Given the description of an element on the screen output the (x, y) to click on. 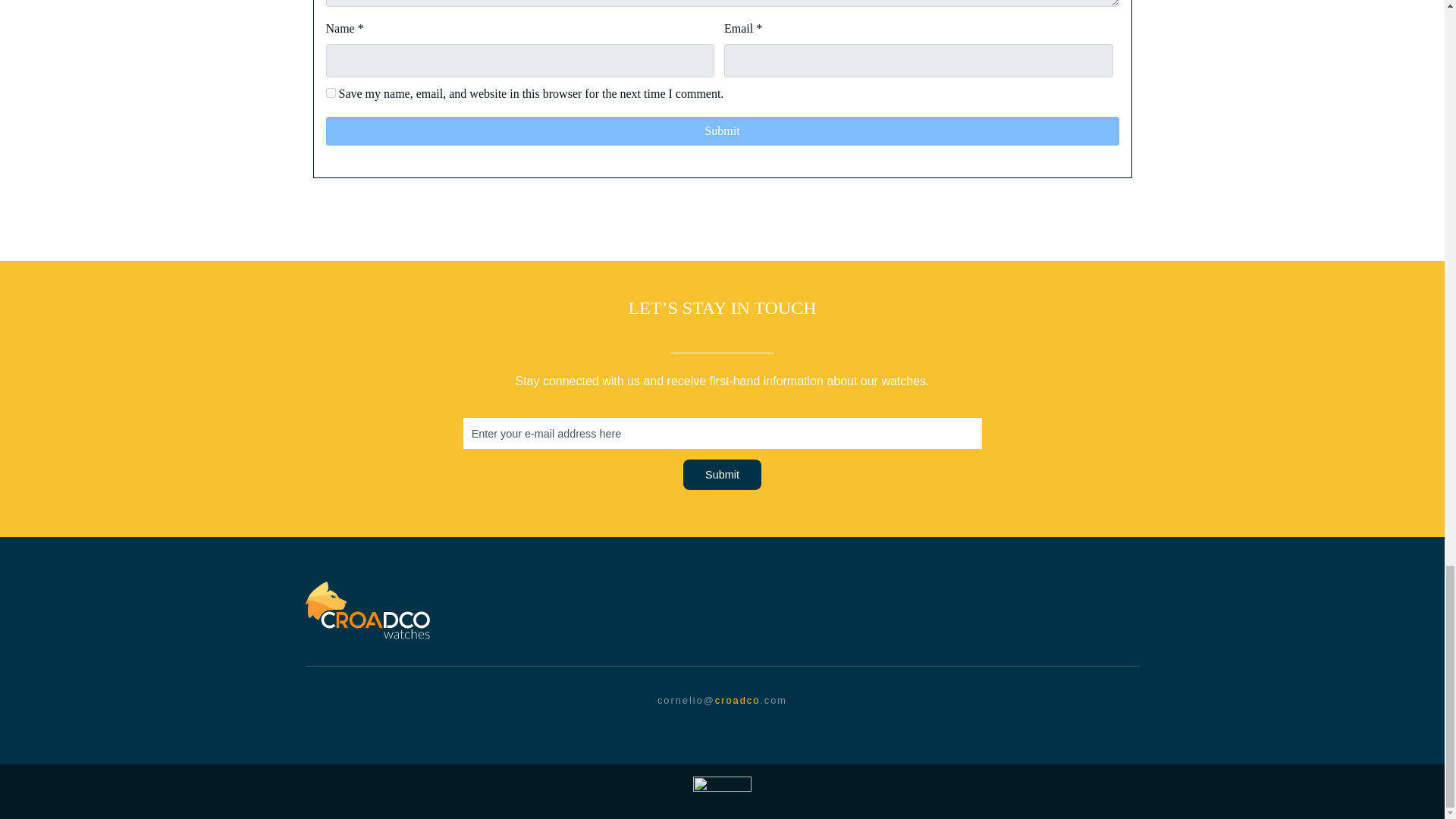
Submit (722, 131)
yes (331, 92)
Submit (722, 131)
Submit (721, 474)
